Given the description of an element on the screen output the (x, y) to click on. 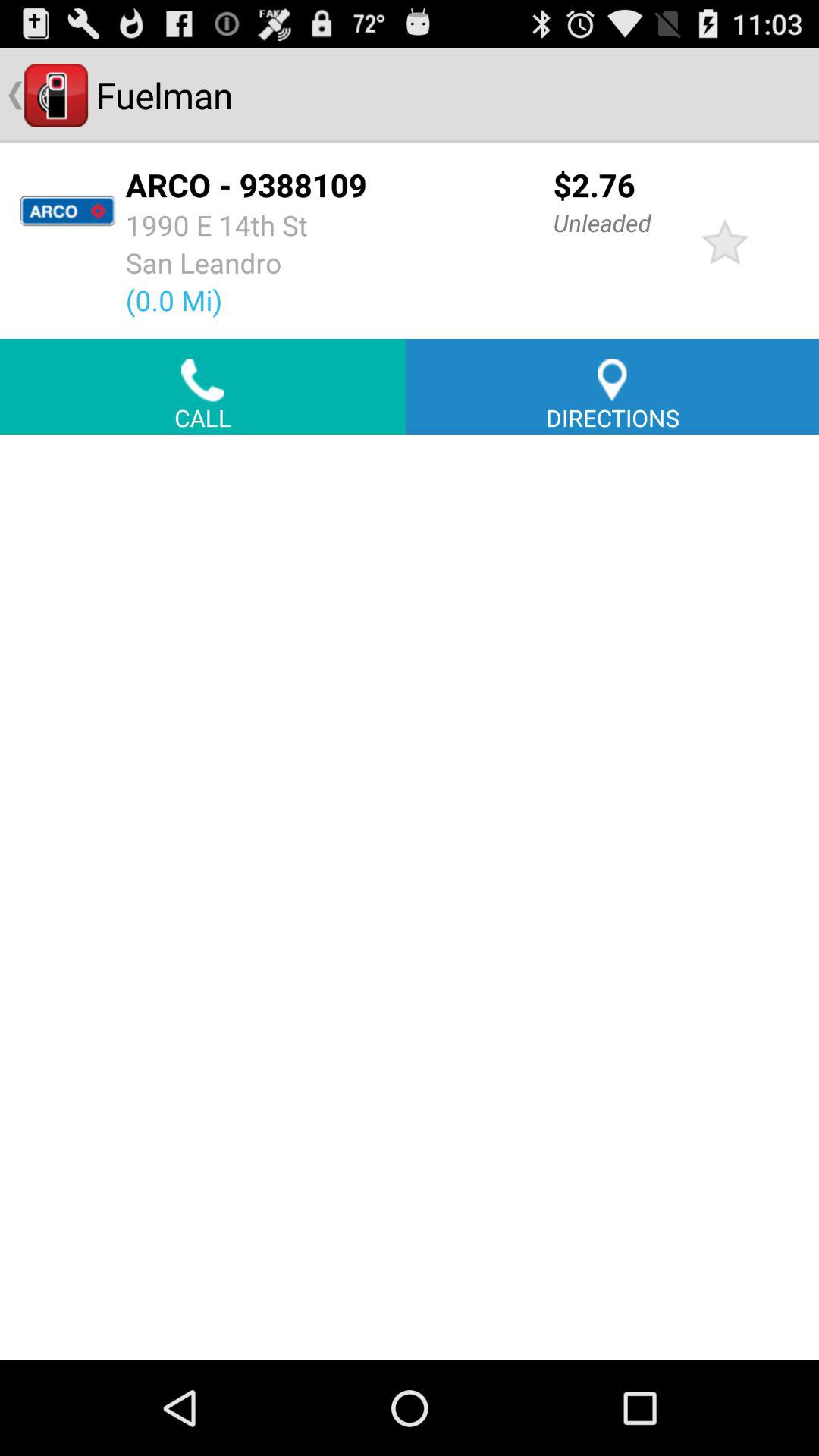
choose item to the right of the unleaded (724, 240)
